Given the description of an element on the screen output the (x, y) to click on. 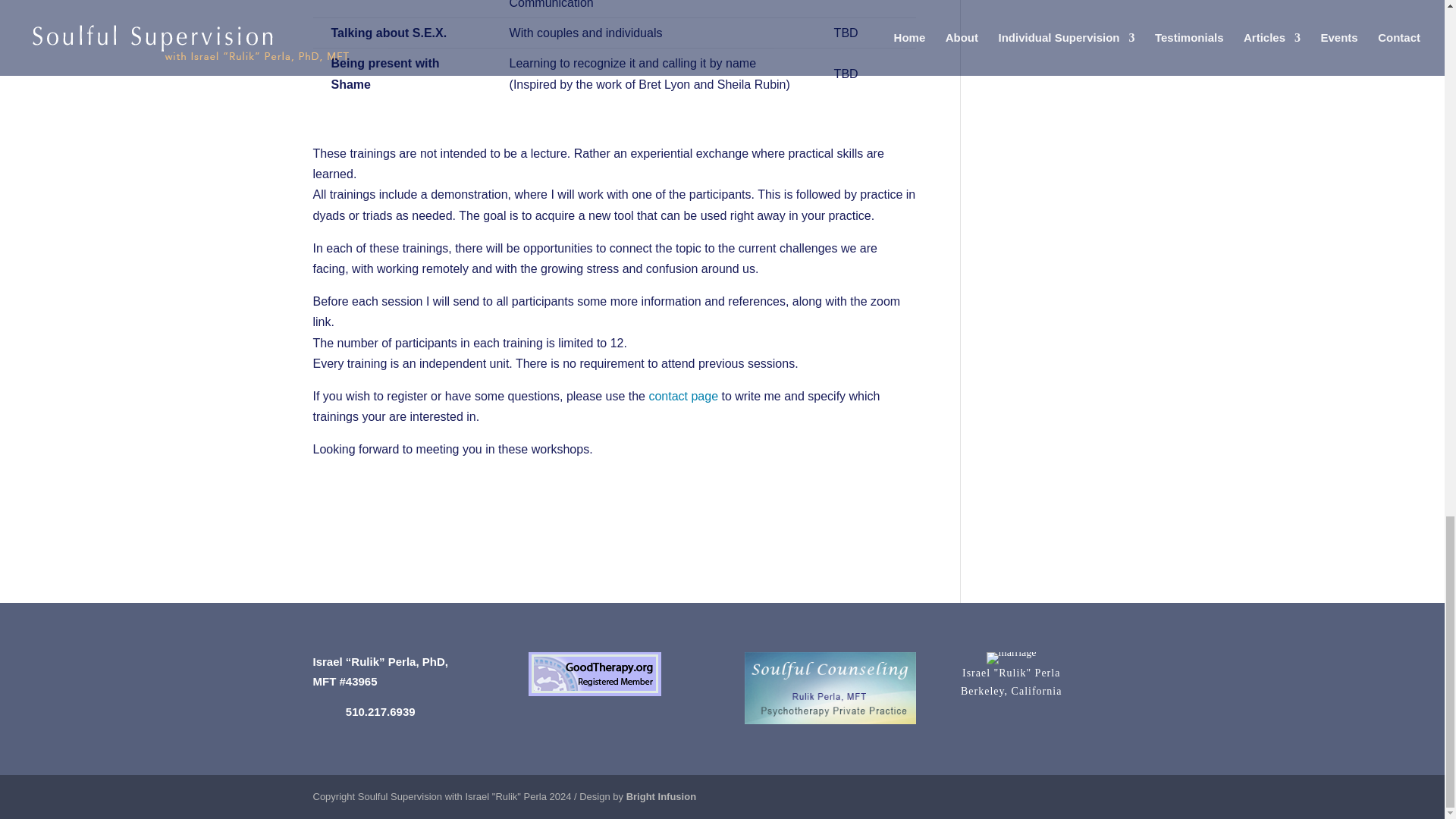
Bright Infusion (660, 796)
contact page (682, 395)
marriage (1010, 681)
510.217.6939 (1011, 657)
